Given the description of an element on the screen output the (x, y) to click on. 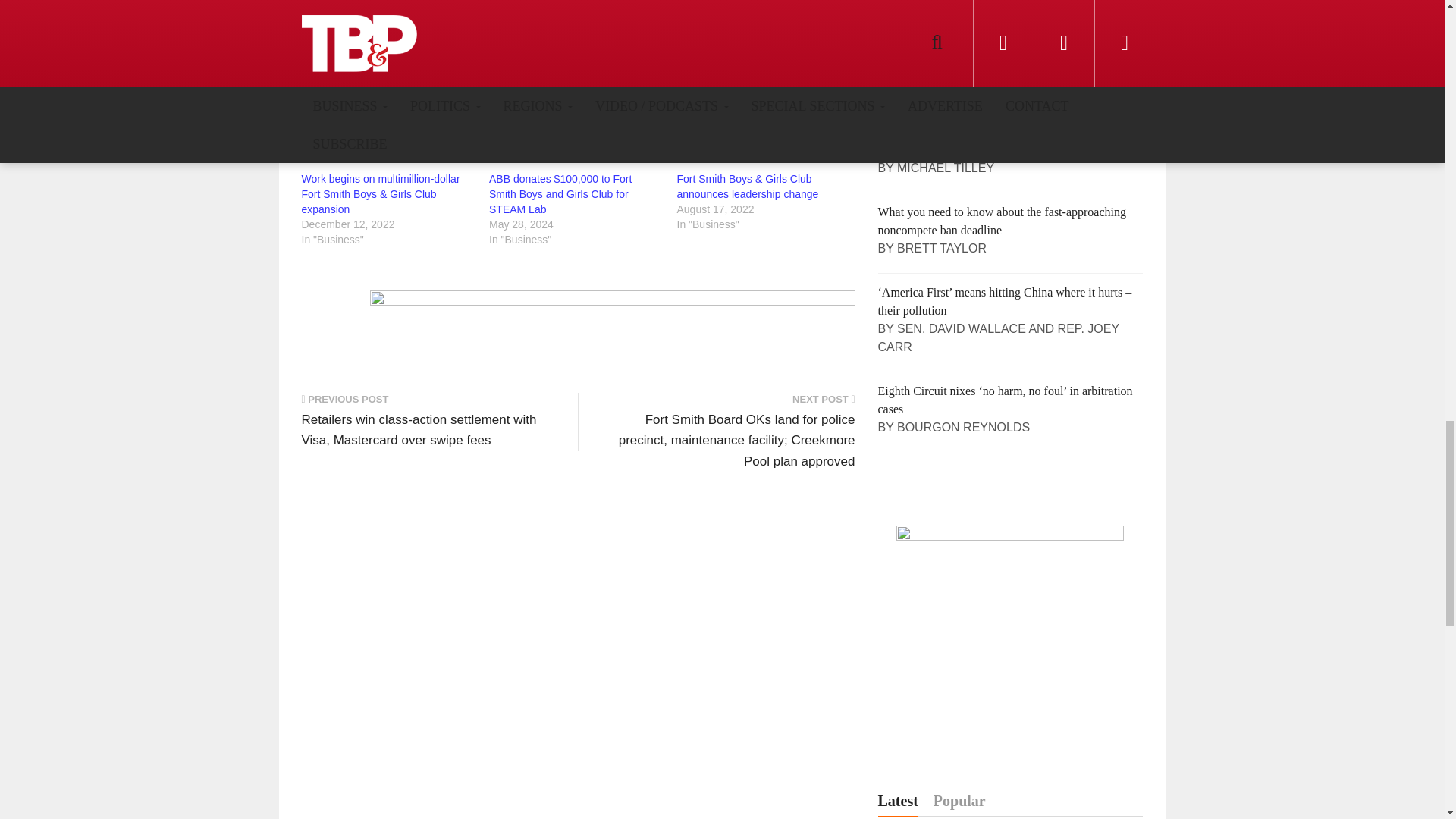
Click to share on LinkedIn (464, 4)
Click to share on Facebook (339, 4)
Click to share on X (404, 4)
